Given the description of an element on the screen output the (x, y) to click on. 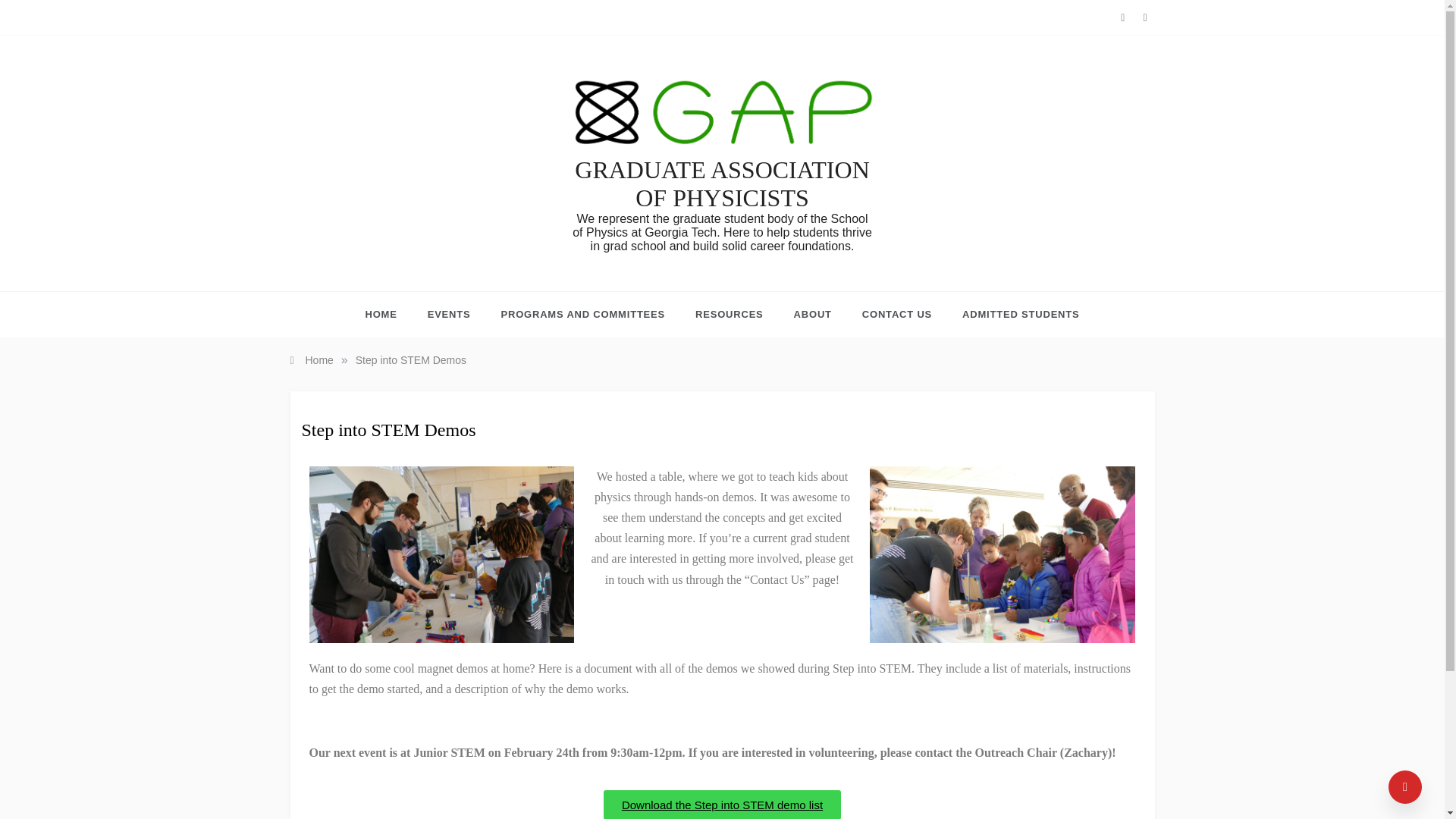
CONTACT US (897, 314)
Home (311, 359)
RESOURCES (728, 314)
HOME (388, 314)
ADMITTED STUDENTS (1012, 314)
Go to Top (1405, 786)
GRADUATE ASSOCIATION OF PHYSICISTS (722, 183)
Step into STEM Demos (410, 359)
PROGRAMS AND COMMITTEES (581, 314)
Download the Step into STEM demo list (722, 804)
